Given the description of an element on the screen output the (x, y) to click on. 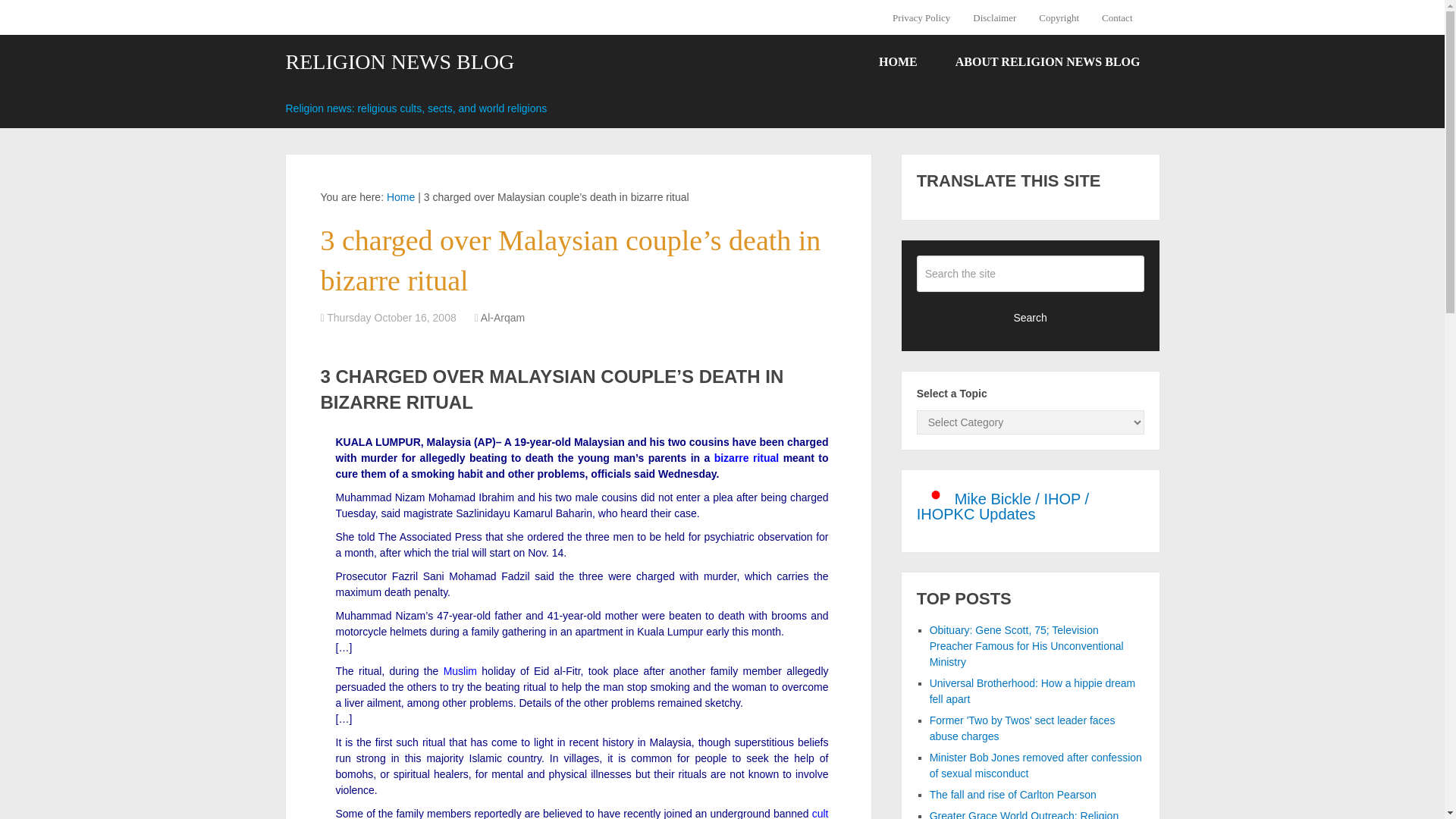
Copyright (1058, 17)
Greater Grace World Outreach: Religion under fire (1024, 814)
View all posts in Al-Arqam (502, 317)
Former 'Two by Twos' sect leader faces abuse charges (1022, 728)
bizarre ritual (746, 458)
Disclaimer (993, 17)
Al-Arqam (502, 317)
Contact (1116, 17)
ABOUT RELIGION NEWS BLOG (1047, 62)
Home (400, 196)
Universal Brotherhood: How a hippie dream fell apart (1032, 691)
HOME (898, 62)
RELIGION NEWS BLOG (399, 61)
Muslim (460, 671)
